Given the description of an element on the screen output the (x, y) to click on. 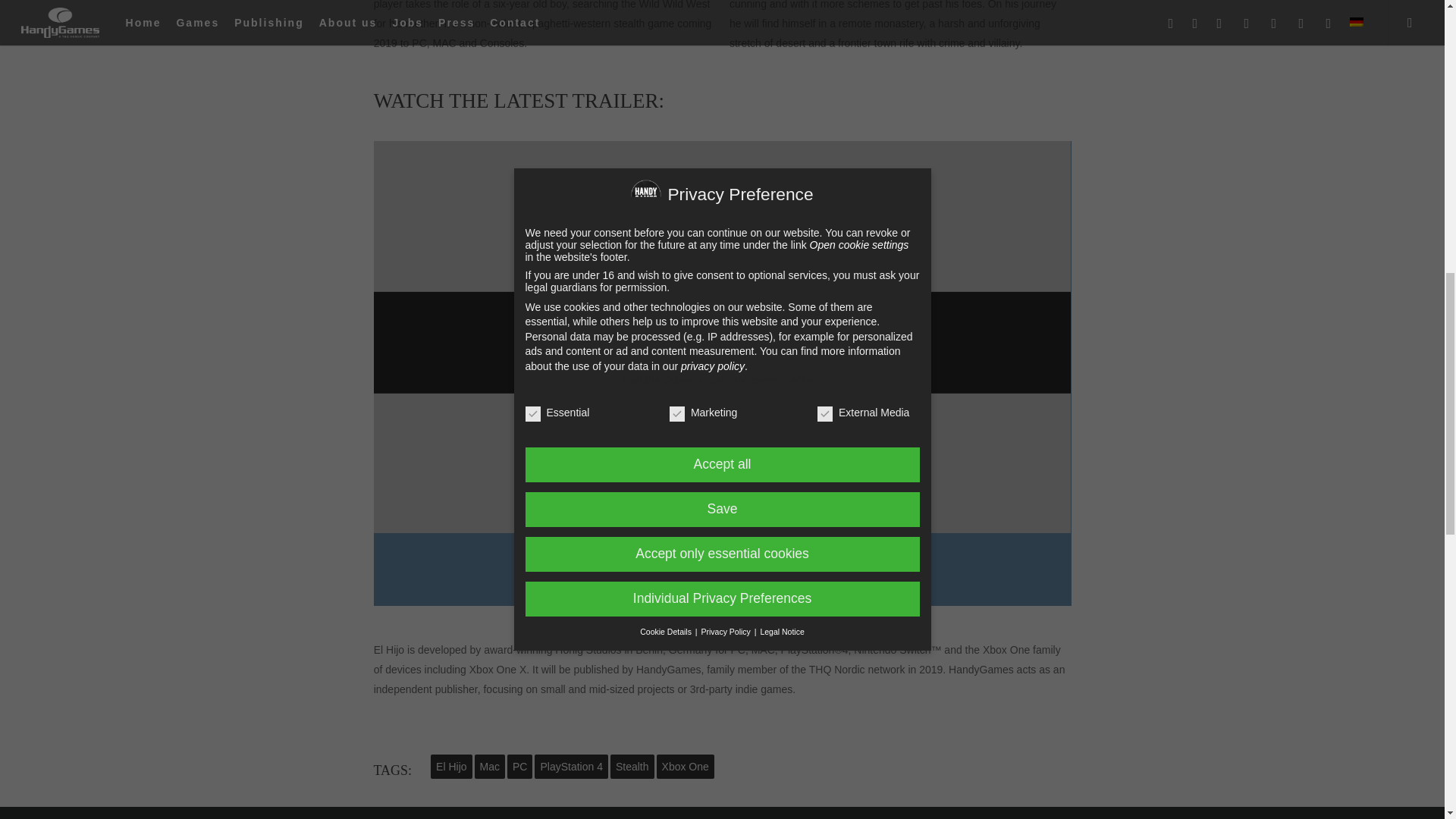
READ MORE (721, 569)
Mac (489, 766)
Stealth (631, 766)
Xbox One (685, 766)
PlayStation 4 (571, 766)
1 (668, 378)
PC (519, 766)
Load video (722, 348)
El Hijo (450, 766)
Learn more (722, 320)
